Given the description of an element on the screen output the (x, y) to click on. 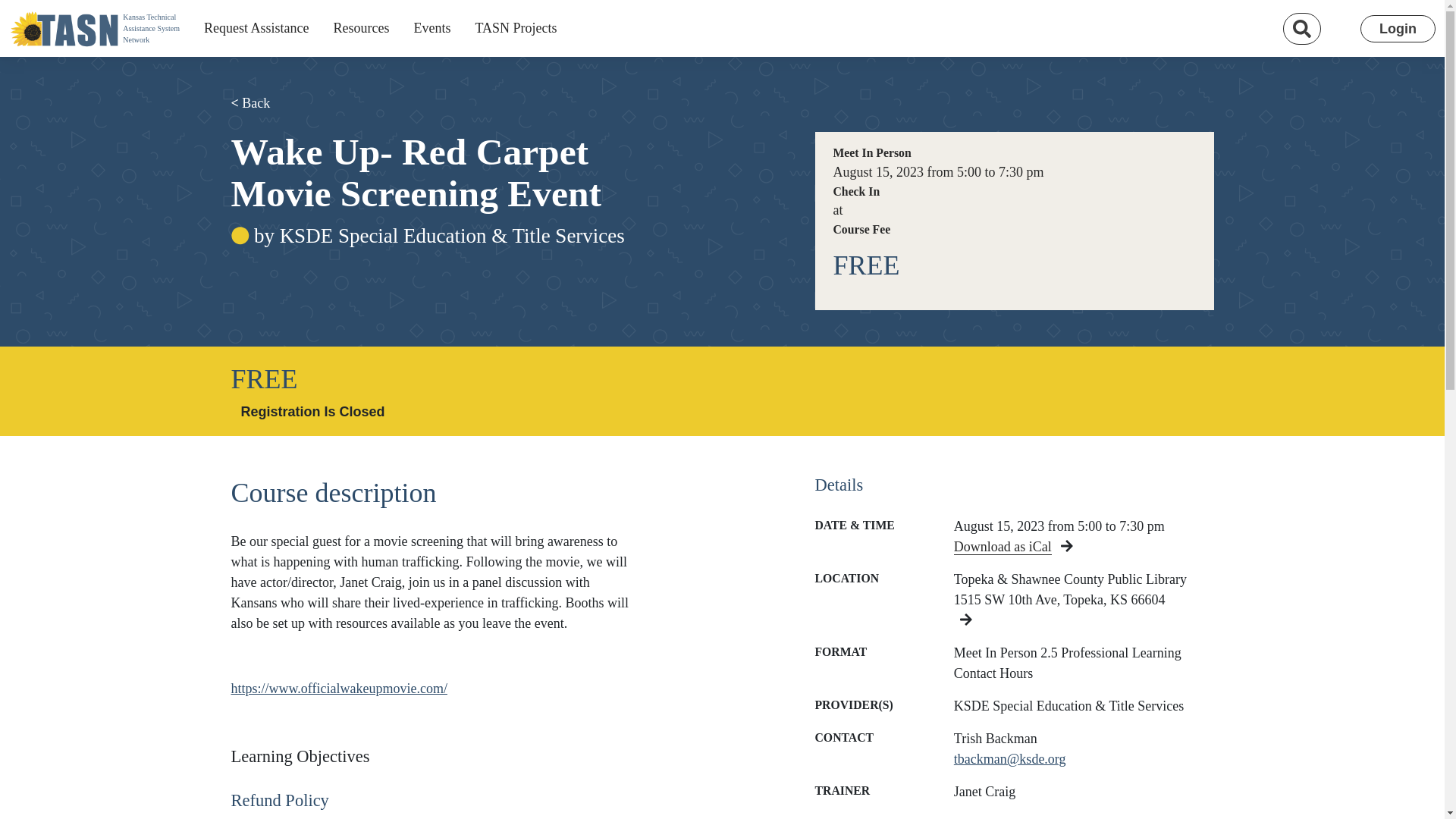
Request Assistance (256, 28)
Registration Is Closed (312, 411)
Resources (360, 28)
Download as iCal (1002, 546)
Login (1397, 28)
Events (93, 27)
TASN Projects (432, 28)
Search (515, 28)
